Given the description of an element on the screen output the (x, y) to click on. 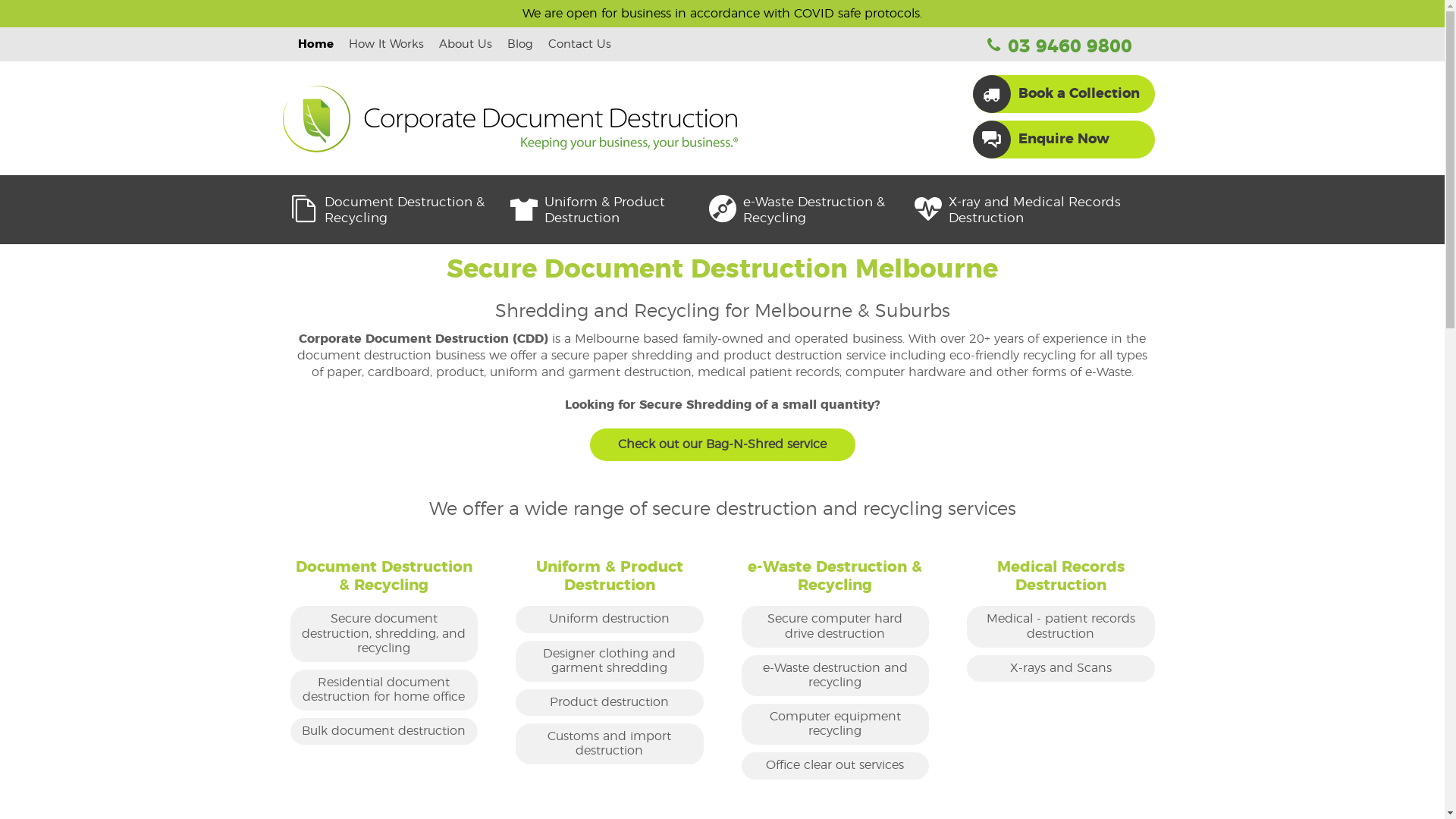
About Us Element type: text (464, 44)
Designer clothing and garment shredding Element type: text (609, 660)
How It Works Element type: text (385, 44)
Customs and import destruction Element type: text (609, 743)
Bulk document destruction Element type: text (383, 731)
Document Destruction & Recycling Element type: text (399, 209)
Medical - patient records destruction Element type: text (1060, 625)
03 9460 9800 Element type: text (1059, 46)
Contact Us Element type: text (578, 44)
Secure document destruction, shredding, and recycling Element type: text (383, 633)
e-Waste Destruction & Recycling Element type: text (811, 209)
X-rays and Scans Element type: text (1060, 668)
Book a Collection Element type: text (1063, 93)
Residential document destruction for home office Element type: text (383, 689)
Check out our Bag-N-Shred service Element type: text (722, 444)
Home Element type: text (314, 44)
Secure computer hard drive destruction Element type: text (835, 625)
Office clear out services Element type: text (835, 765)
Computer equipment recycling Element type: text (835, 723)
Product destruction Element type: text (609, 702)
Uniform destruction Element type: text (609, 618)
X-ray and Medical Records Destruction Element type: text (1034, 209)
e-Waste destruction and recycling Element type: text (835, 675)
Blog Element type: text (519, 44)
Enquire Now Element type: text (1047, 139)
Uniform & Product Destruction Element type: text (609, 209)
